Given the description of an element on the screen output the (x, y) to click on. 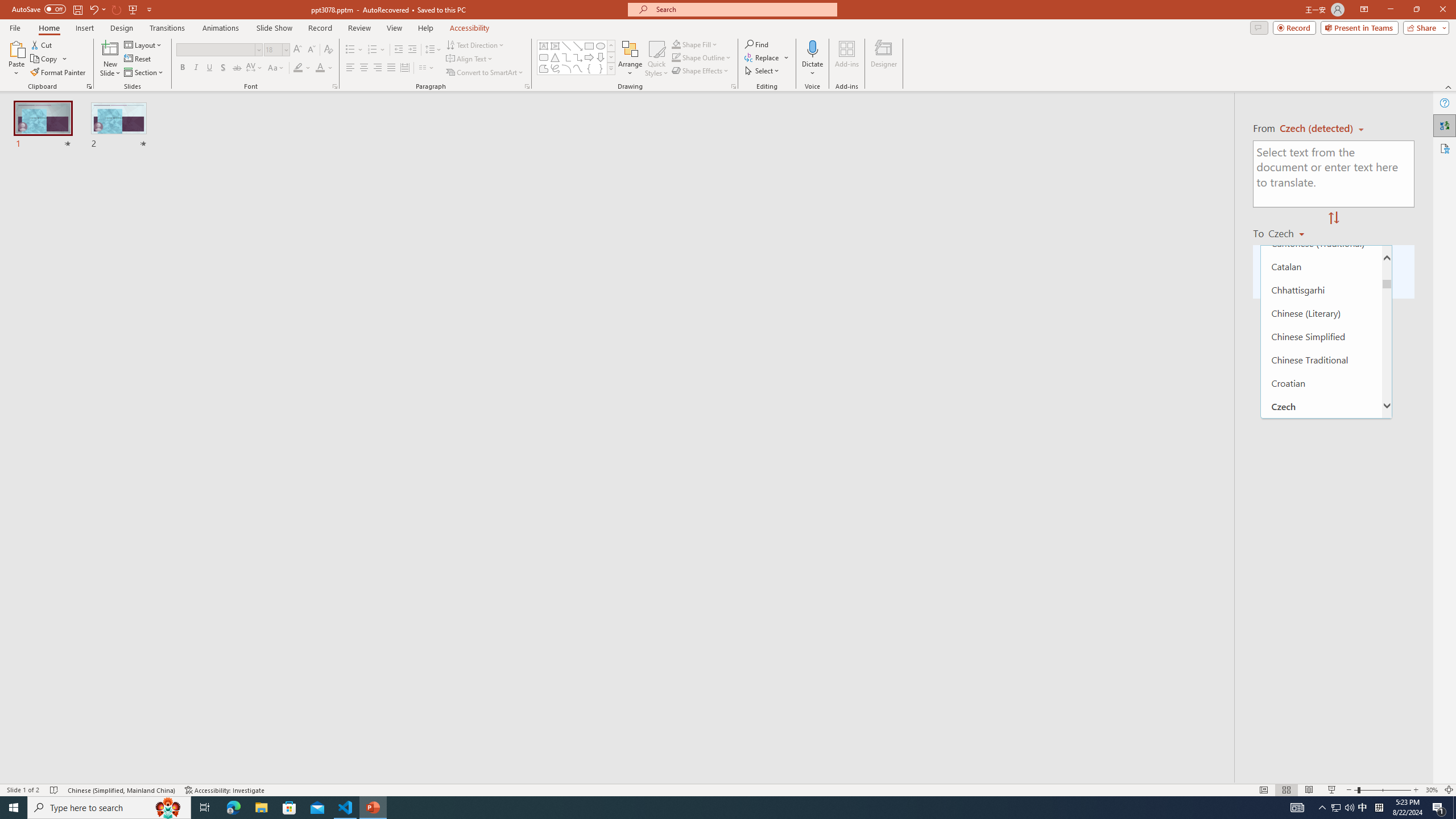
Dogri (1320, 499)
Bosnian (1320, 196)
Shape Effects (700, 69)
Galician (1320, 731)
Dari (1320, 452)
Catalan (1320, 266)
Faroese (1320, 592)
Chinese Traditional (1320, 359)
